Given the description of an element on the screen output the (x, y) to click on. 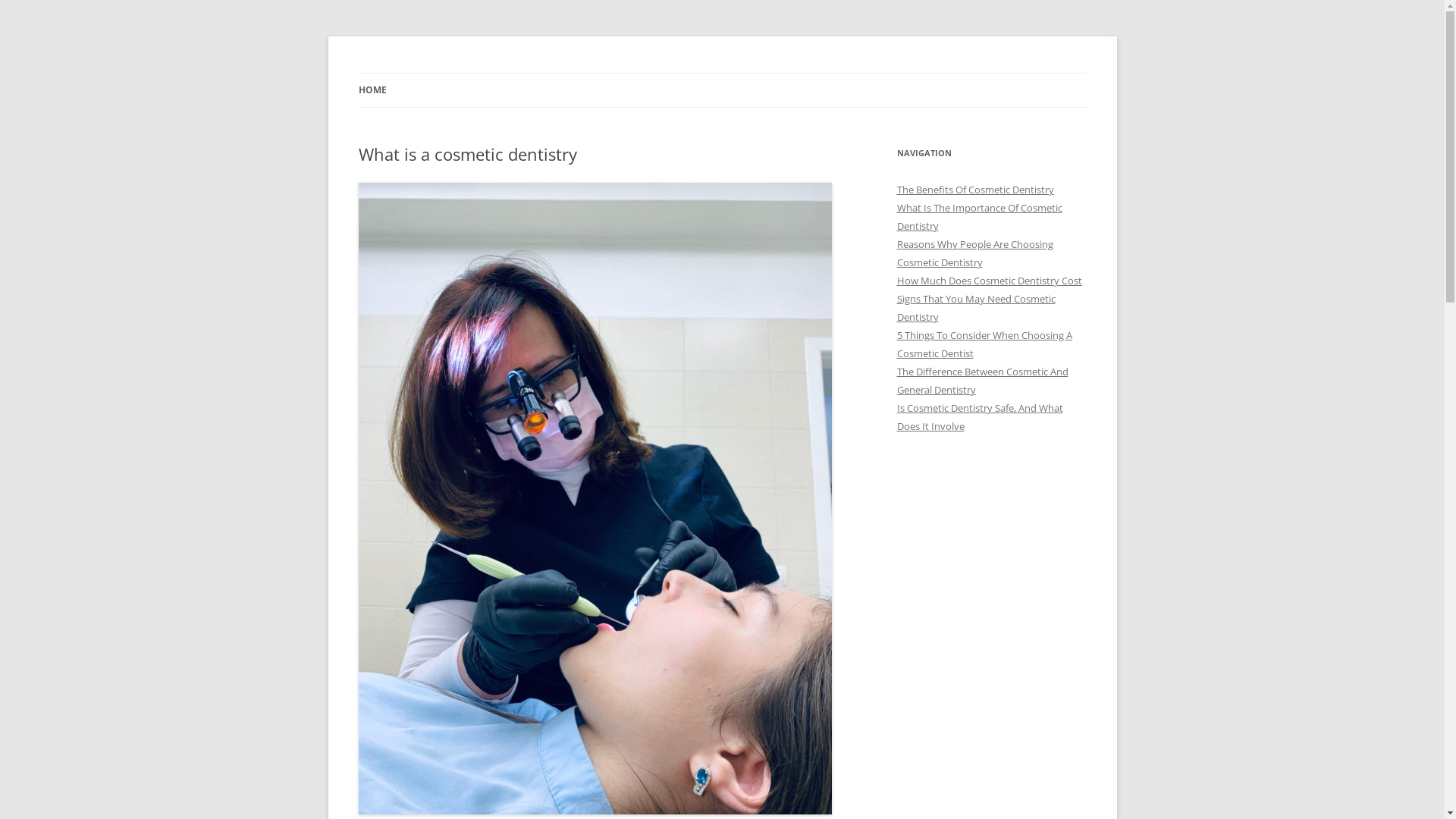
Signs That You May Need Cosmetic Dentistry Element type: text (975, 307)
Is Cosmetic Dentistry Safe, And What Does It Involve Element type: text (979, 417)
5 Things To Consider When Choosing A Cosmetic Dentist Element type: text (983, 344)
The Benefits Of Cosmetic Dentistry Element type: text (974, 189)
HOME Element type: text (371, 89)
Reasons Why People Are Choosing Cosmetic Dentistry Element type: text (974, 253)
Skip to content Element type: text (721, 72)
What Is The Importance Of Cosmetic Dentistry Element type: text (978, 216)
Cosmetic Dentistry Element type: text (451, 72)
How Much Does Cosmetic Dentistry Cost Element type: text (988, 280)
The Difference Between Cosmetic And General Dentistry Element type: text (981, 380)
